Given the description of an element on the screen output the (x, y) to click on. 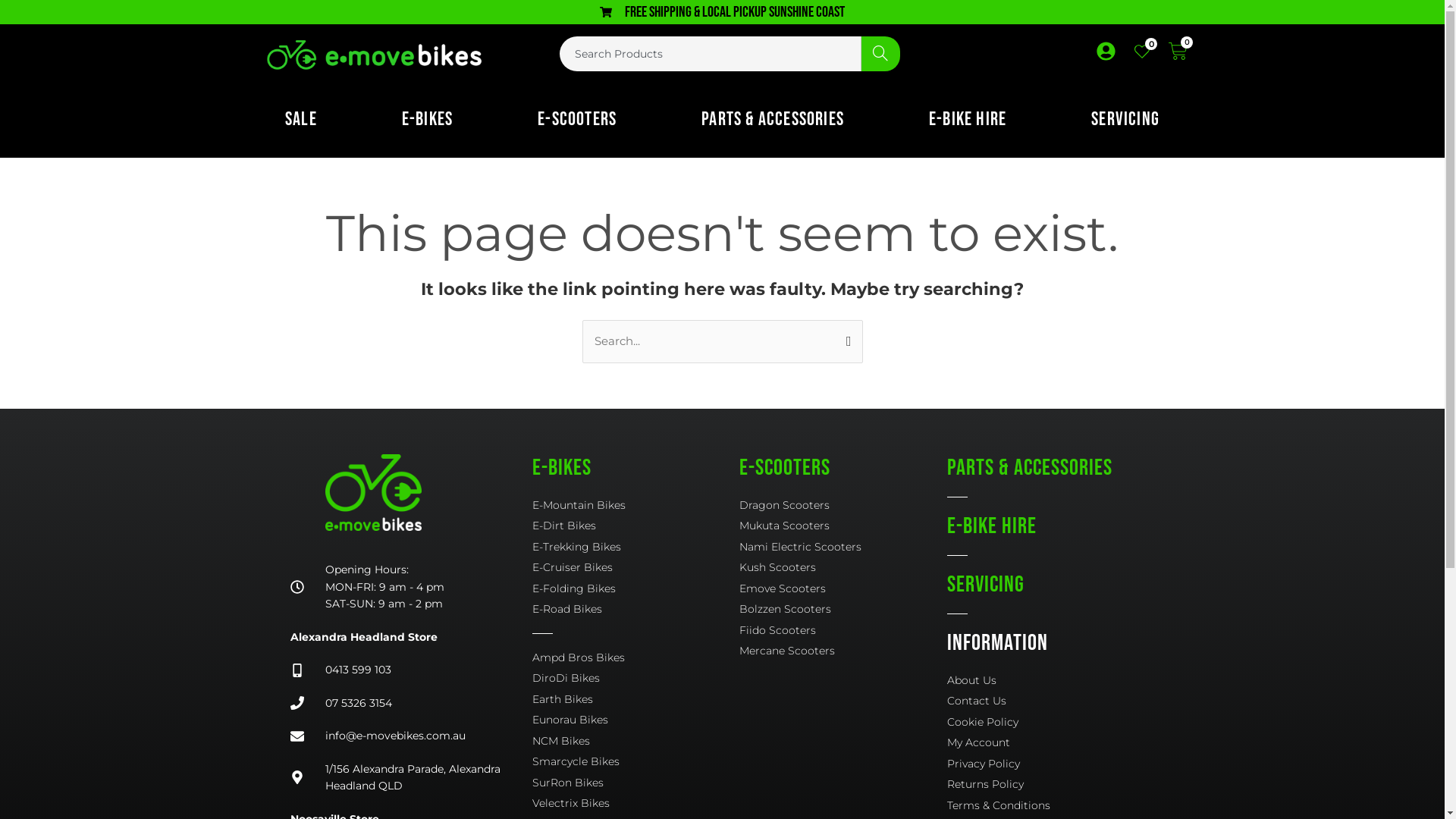
SurRon Bikes Element type: text (636, 782)
info@e-movebikes.com.au Element type: text (398, 735)
Sale Element type: text (300, 119)
E-BIKES Element type: text (427, 119)
E-Folding Bikes Element type: text (636, 588)
PARTS & ACCESSORIES Element type: text (772, 119)
E-SCOOTERS Element type: text (576, 119)
PARTS & ACCESSORIES Element type: text (1029, 467)
E-Cruiser Bikes Element type: text (636, 567)
SERVICING Element type: text (1125, 119)
DiroDi Bikes Element type: text (636, 678)
E-Dirt Bikes Element type: text (636, 525)
0 Element type: text (1141, 51)
E-BIKE HIRE Element type: text (967, 119)
Returns Policy Element type: text (1050, 784)
0
Cart Element type: text (1177, 52)
About Us Element type: text (1050, 680)
1/156 Alexandra Parade, Alexandra Headland QLD Element type: text (398, 777)
Search Element type: text (880, 53)
My Account Element type: text (1050, 742)
Search Element type: text (845, 335)
Smarcycle Bikes Element type: text (636, 761)
Fiido Scooters Element type: text (842, 630)
E-BIKE HIRE Element type: text (991, 525)
Mukuta Scooters Element type: text (842, 525)
E-SCOOTERS Element type: text (784, 467)
Terms & Conditions Element type: text (1050, 805)
Cookie Policy Element type: text (1050, 722)
Privacy Policy Element type: text (1050, 763)
07 5326 3154 Element type: text (398, 703)
E-Mountain Bikes Element type: text (636, 505)
Earth Bikes Element type: text (636, 699)
Emove Scooters Element type: text (842, 588)
0413 599 103 Element type: text (398, 669)
FREE SHIPPING & LOCAL PICKUP SUNSHINE COAST Element type: text (722, 12)
Contact Us Element type: text (1050, 700)
Eunorau Bikes Element type: text (636, 719)
Ampd Bros Bikes Element type: text (636, 657)
Kush Scooters Element type: text (842, 567)
E-Trekking Bikes Element type: text (636, 546)
SERVICING Element type: text (985, 584)
NCM Bikes Element type: text (636, 740)
Dragon Scooters Element type: text (842, 505)
E-Road Bikes Element type: text (636, 609)
Nami Electric Scooters Element type: text (842, 546)
Bolzzen Scooters Element type: text (842, 609)
E-BIKES Element type: text (561, 467)
